Given the description of an element on the screen output the (x, y) to click on. 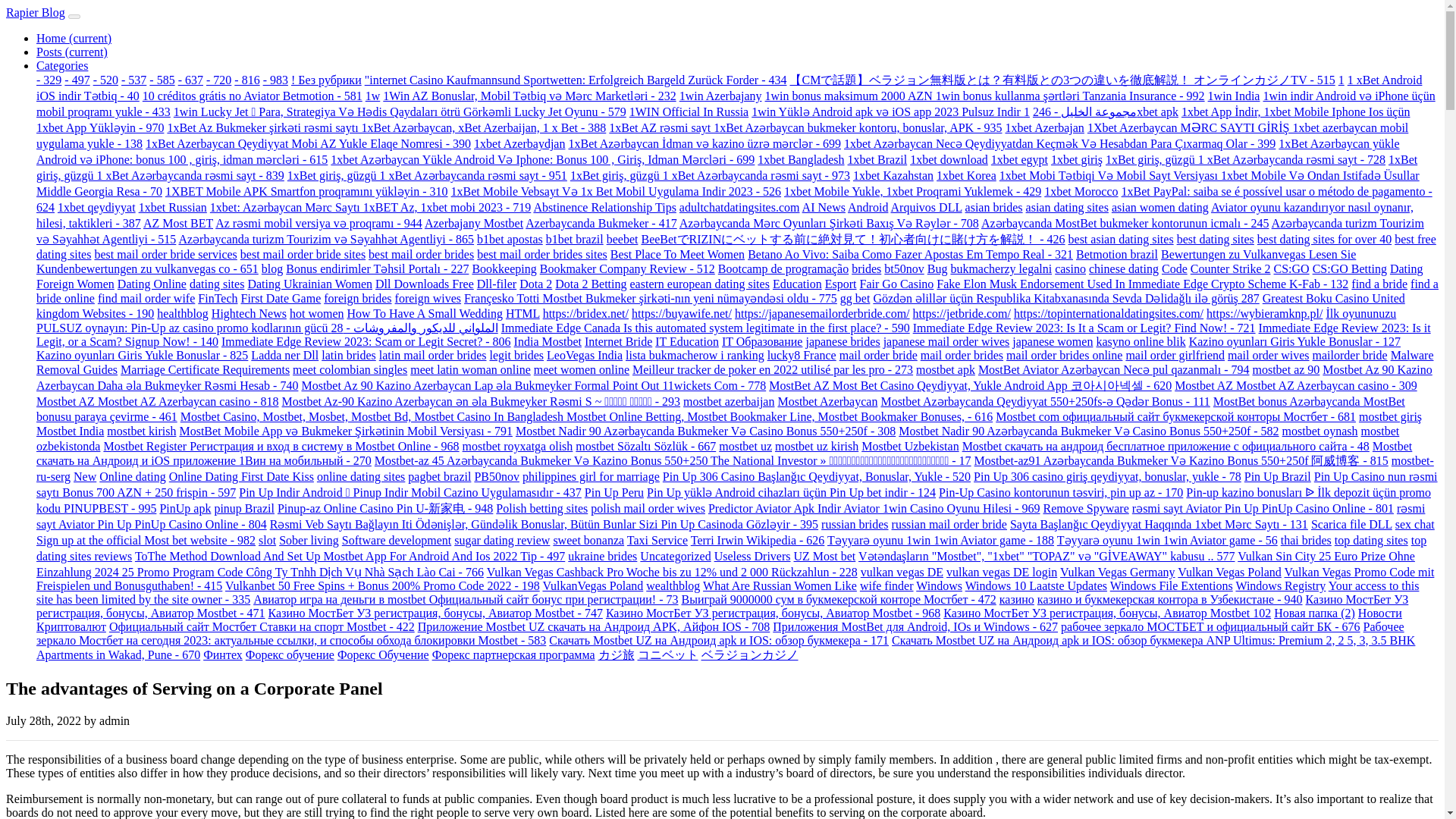
- 585 (161, 79)
- 816 (246, 79)
1win Azerbajany (720, 95)
- 520 (105, 79)
- 537 (133, 79)
1win India (1234, 95)
1WIN Official In Russia (688, 111)
1xBet Azerbaycan Qeydiyyat Mobi AZ Yukle Elaqe Nomresi - 390 (307, 143)
1xbet apk (1100, 111)
1xbet Azerbajan (1043, 127)
